Given the description of an element on the screen output the (x, y) to click on. 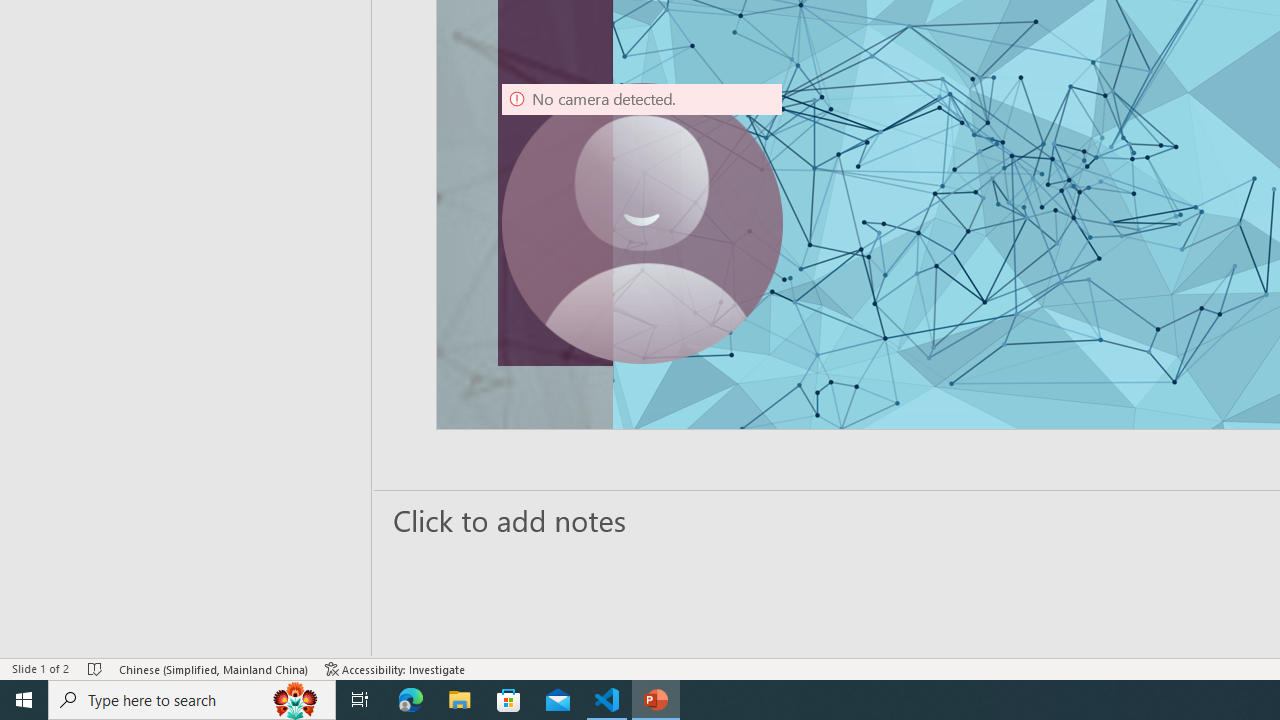
Spell Check No Errors (95, 668)
Camera 9, No camera detected. (641, 223)
Accessibility Checker Accessibility: Investigate (395, 668)
